Given the description of an element on the screen output the (x, y) to click on. 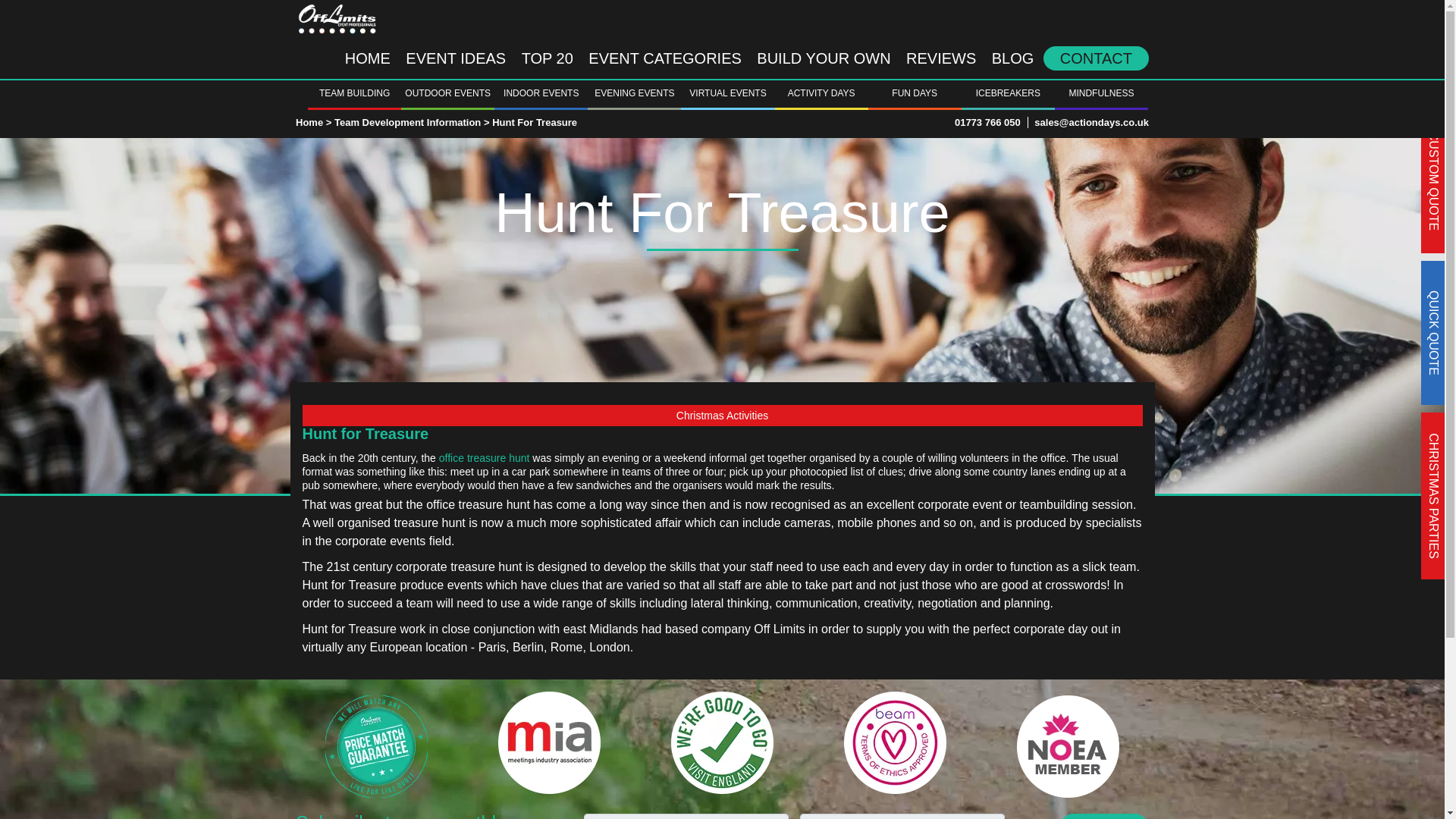
MINDFULNESS (1101, 93)
REVIEWS (940, 57)
office treasure hunt (484, 457)
OUTDOOR EVENTS (448, 93)
ACTIVITY DAYS (820, 93)
EVENING EVENTS (634, 93)
TOP 20 (547, 57)
FUN DAYS (913, 93)
EVENT CATEGORIES (665, 57)
EVENT IDEAS (455, 57)
VIRTUAL EVENTS (727, 93)
Christmas Activities (721, 414)
ICEBREAKERS (1007, 93)
BUILD YOUR OWN (823, 57)
TEAM BUILDING (354, 93)
